Given the description of an element on the screen output the (x, y) to click on. 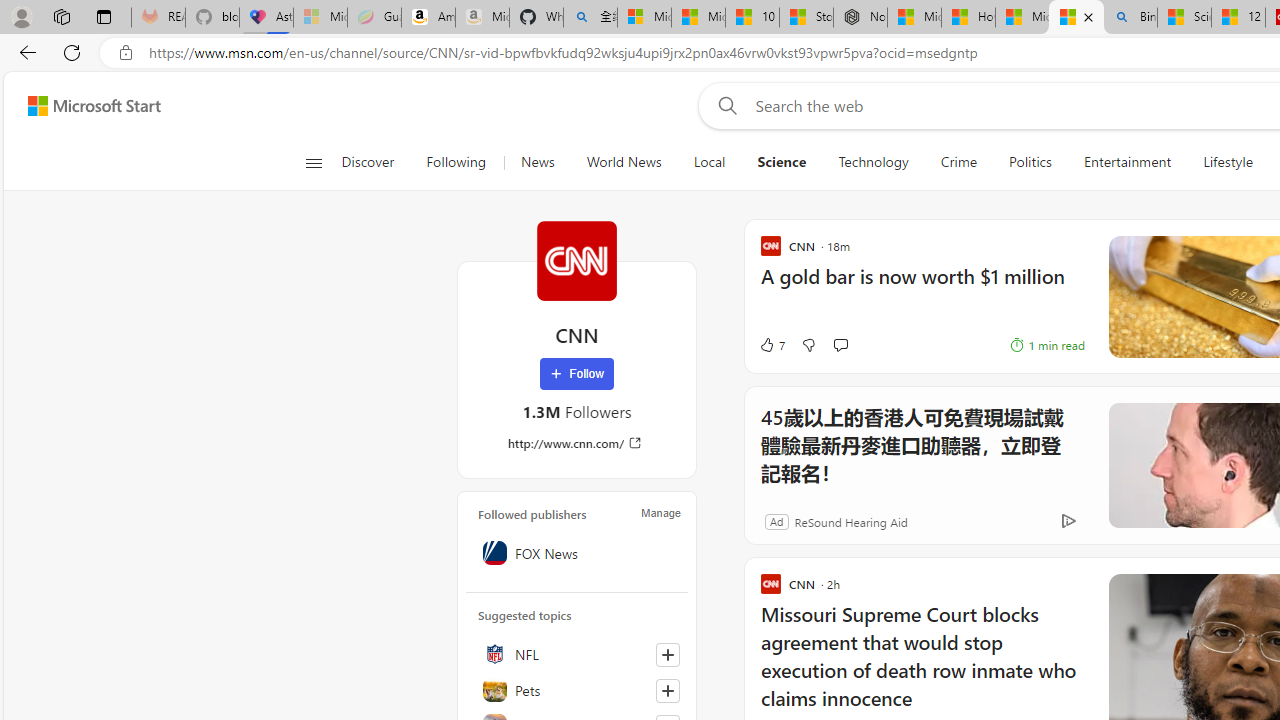
ReSound Hearing Aid (828, 520)
How I Got Rid of Microsoft Edge's Unnecessary Features (968, 17)
CNN - MSN (1076, 17)
http://www.cnn.com/ (576, 443)
